Given the description of an element on the screen output the (x, y) to click on. 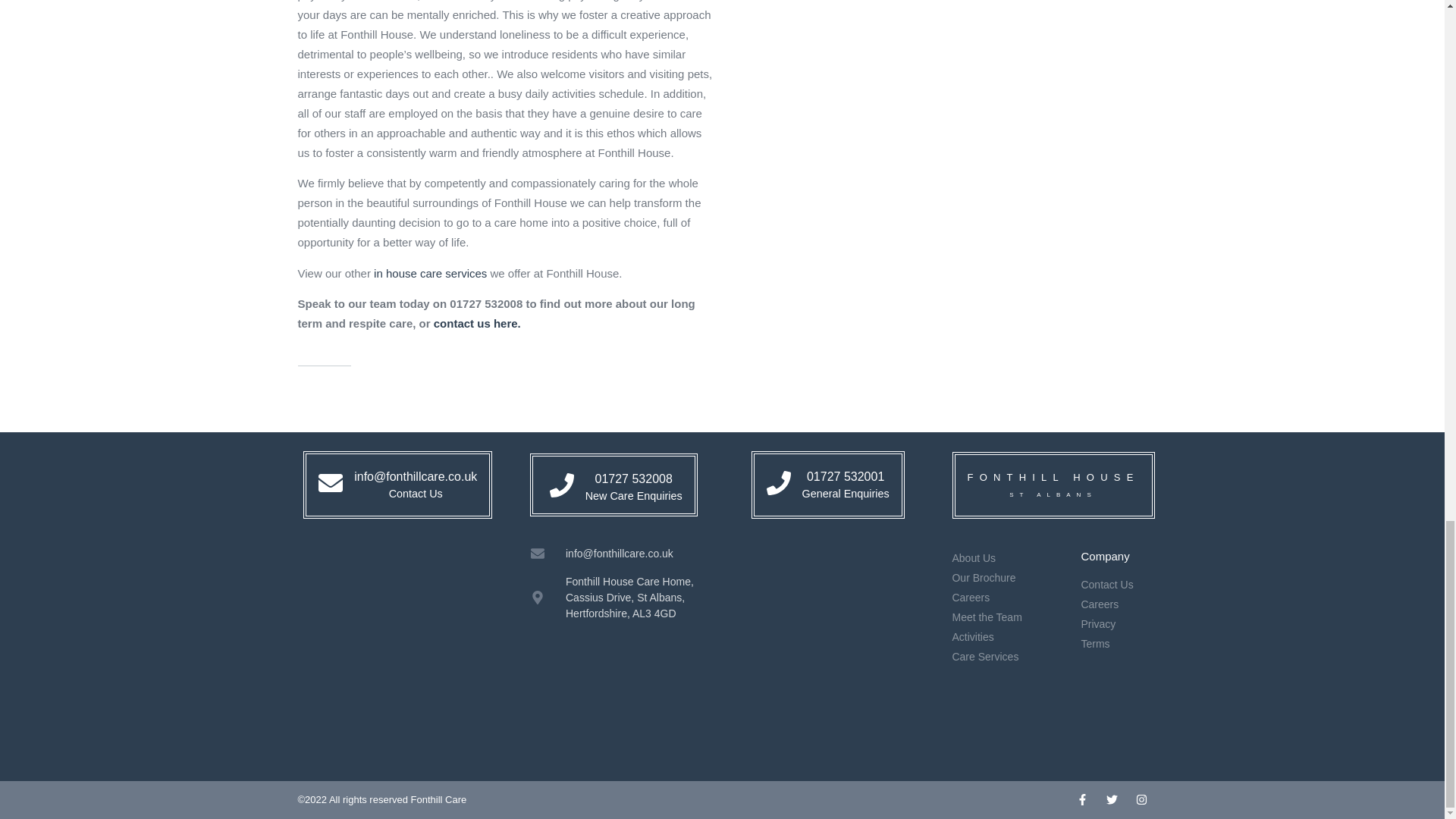
Fonthill House Care Home (406, 659)
